Given the description of an element on the screen output the (x, y) to click on. 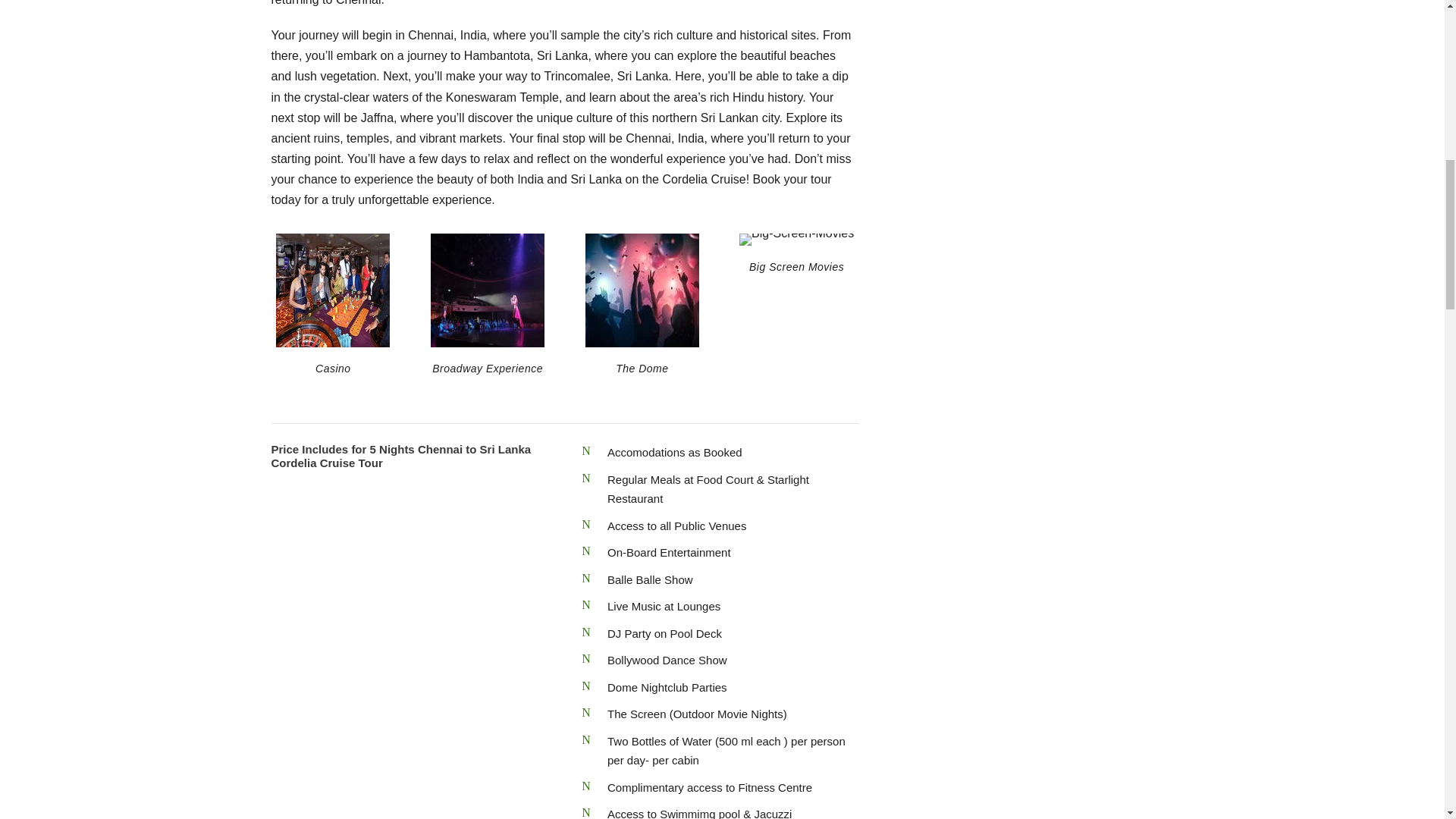
Broadway-Experience-Jalesh-Cruise (487, 290)
Big-Screen-Movies (796, 239)
The-Dome-Jalesh-Cruise (641, 290)
Casino-Jalesh-Cruise (333, 290)
